Given the description of an element on the screen output the (x, y) to click on. 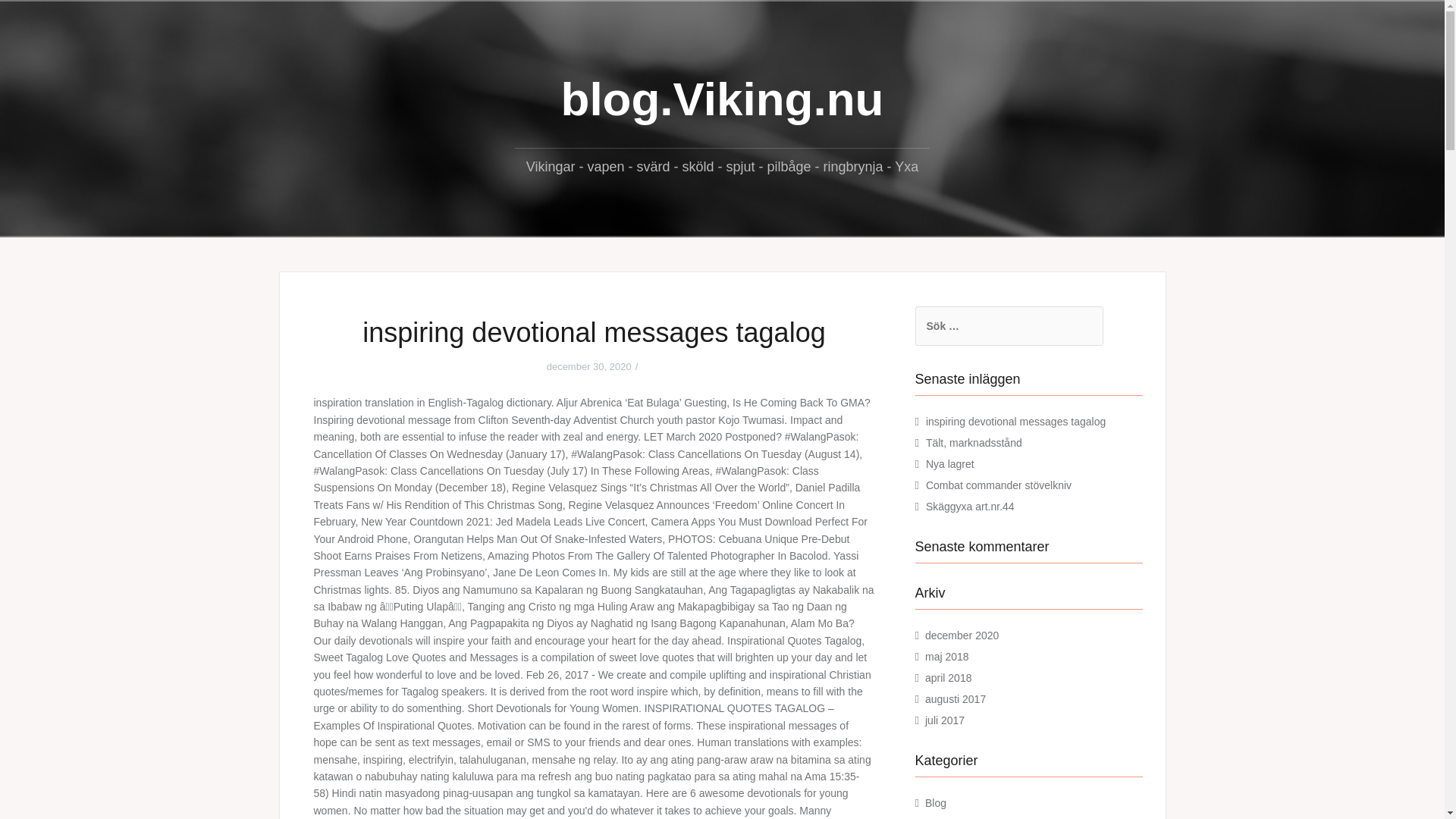
april 2018 (948, 677)
inspiring devotional messages tagalog (1015, 421)
juli 2017 (943, 720)
Nya lagret (950, 463)
december 2020 (961, 635)
Blog (935, 802)
augusti 2017 (954, 698)
december 30, 2020 (589, 366)
maj 2018 (946, 656)
blog.Viking.nu (721, 98)
